Given the description of an element on the screen output the (x, y) to click on. 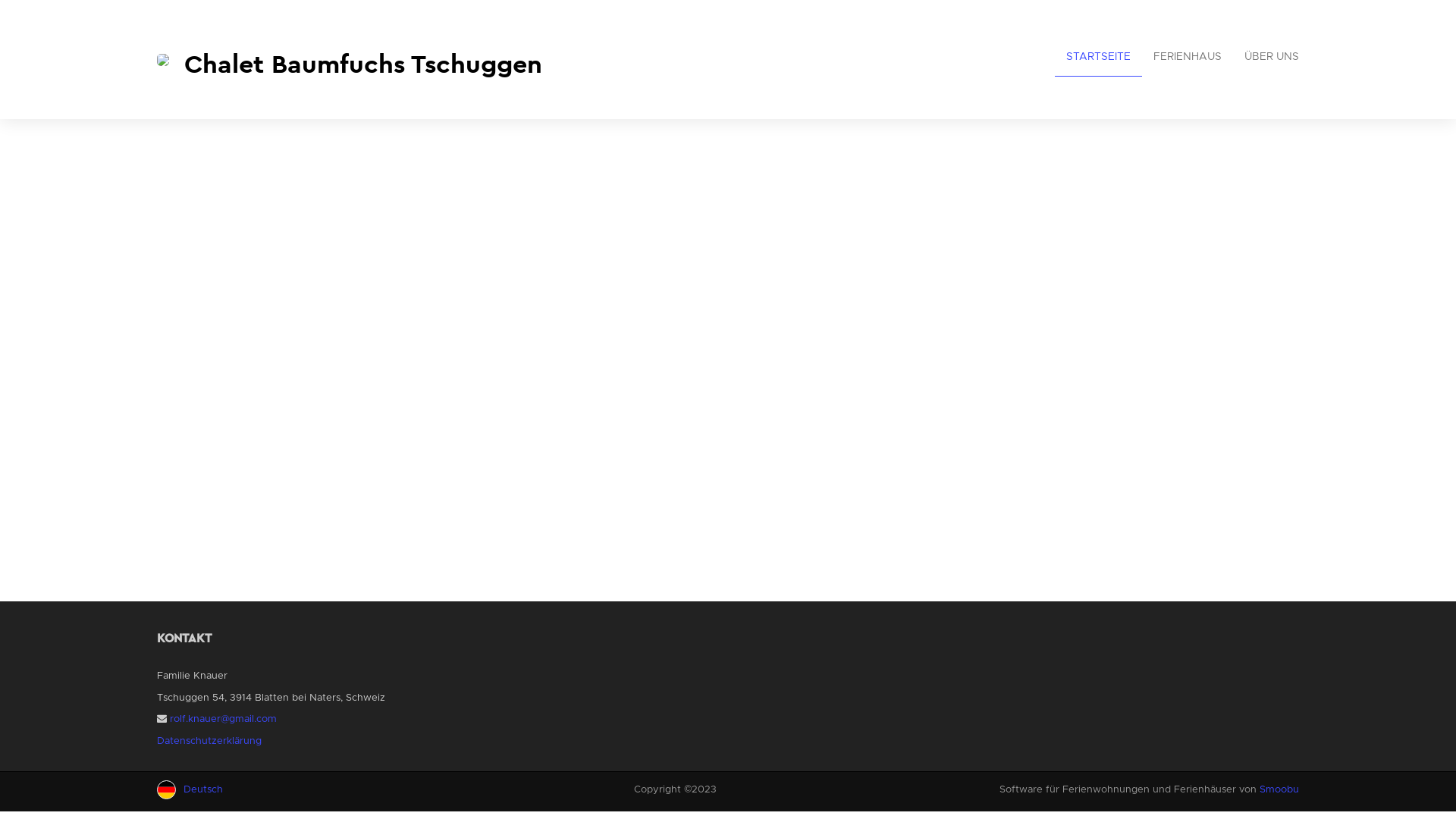
Deutsch Element type: text (217, 790)
FERIENHAUS Element type: text (1187, 56)
Chalet Baumfuchs Tschuggen Element type: text (436, 59)
rolf.knauer@gmail.com Element type: text (222, 719)
STARTSEITE Element type: text (1098, 56)
Smoobu Element type: text (1279, 789)
